Given the description of an element on the screen output the (x, y) to click on. 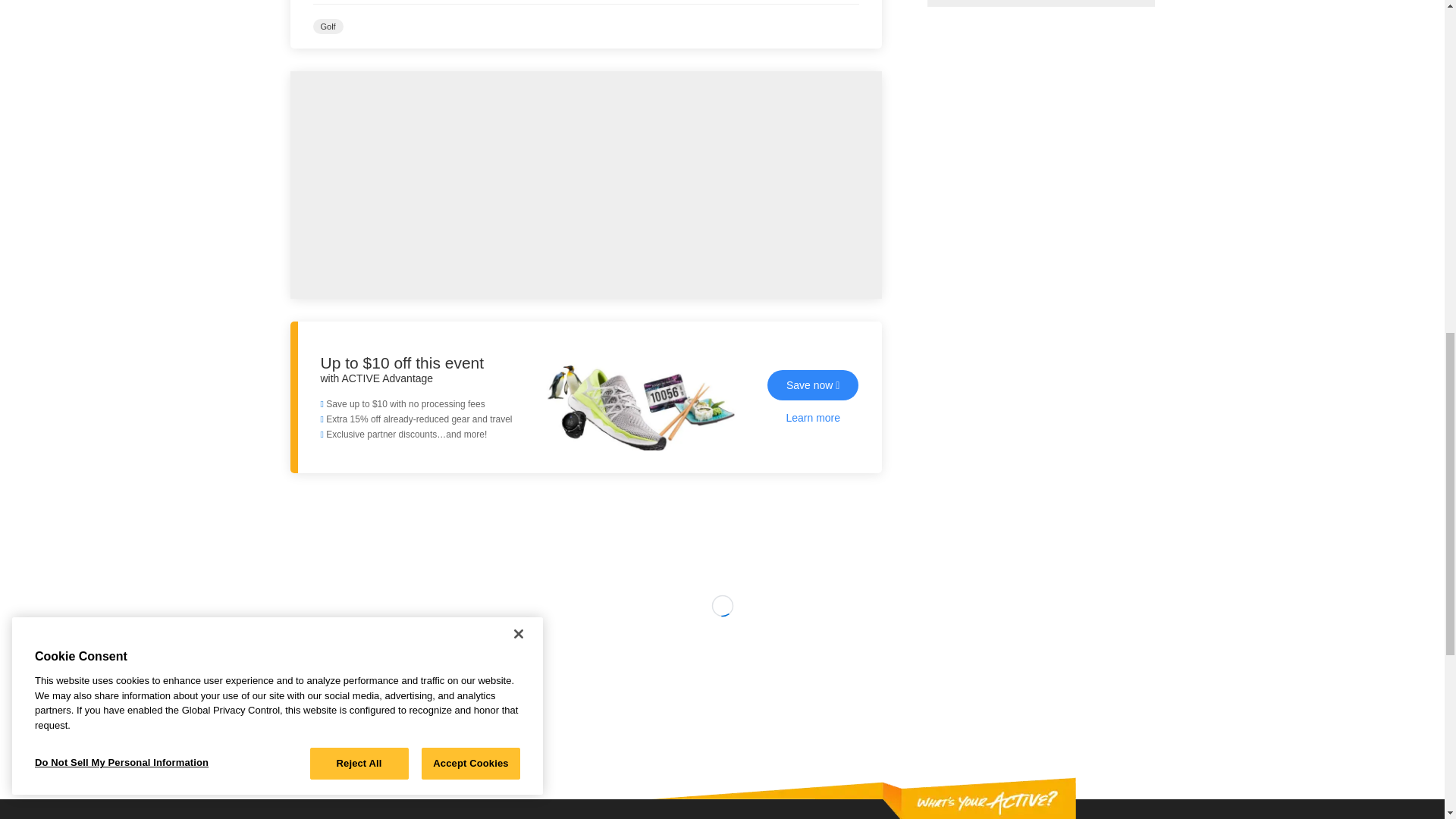
3rd party ad content (721, 689)
3rd party ad content (1040, 3)
